Given the description of an element on the screen output the (x, y) to click on. 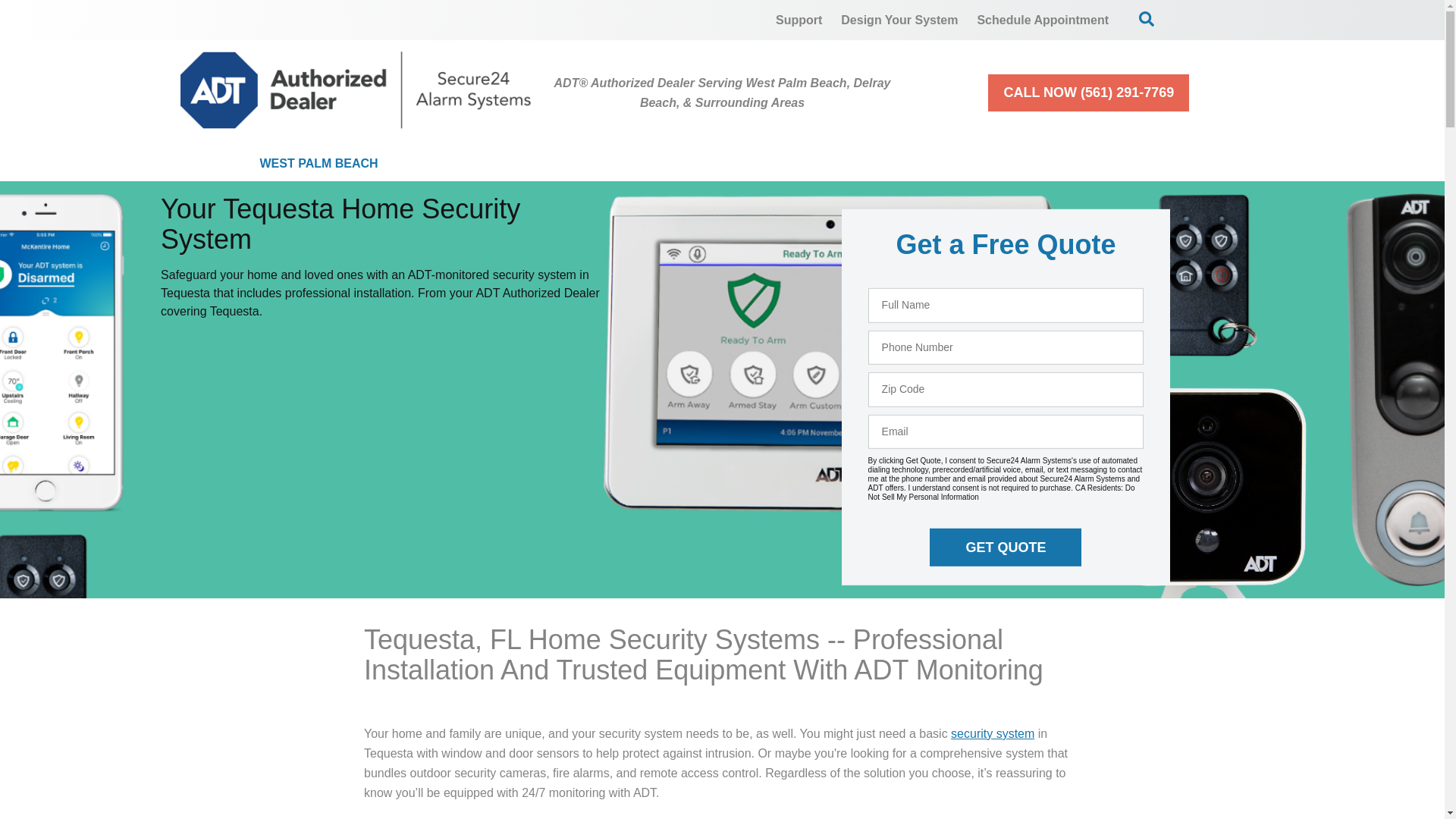
Support (798, 20)
Schedule Appointment (1042, 20)
Secure24 Alarm Systems Home (355, 89)
Home Security (484, 163)
GET QUOTE (1005, 547)
Home Automation (772, 163)
Design Your System (898, 20)
Open Search (1146, 18)
Cameras (623, 163)
